Given the description of an element on the screen output the (x, y) to click on. 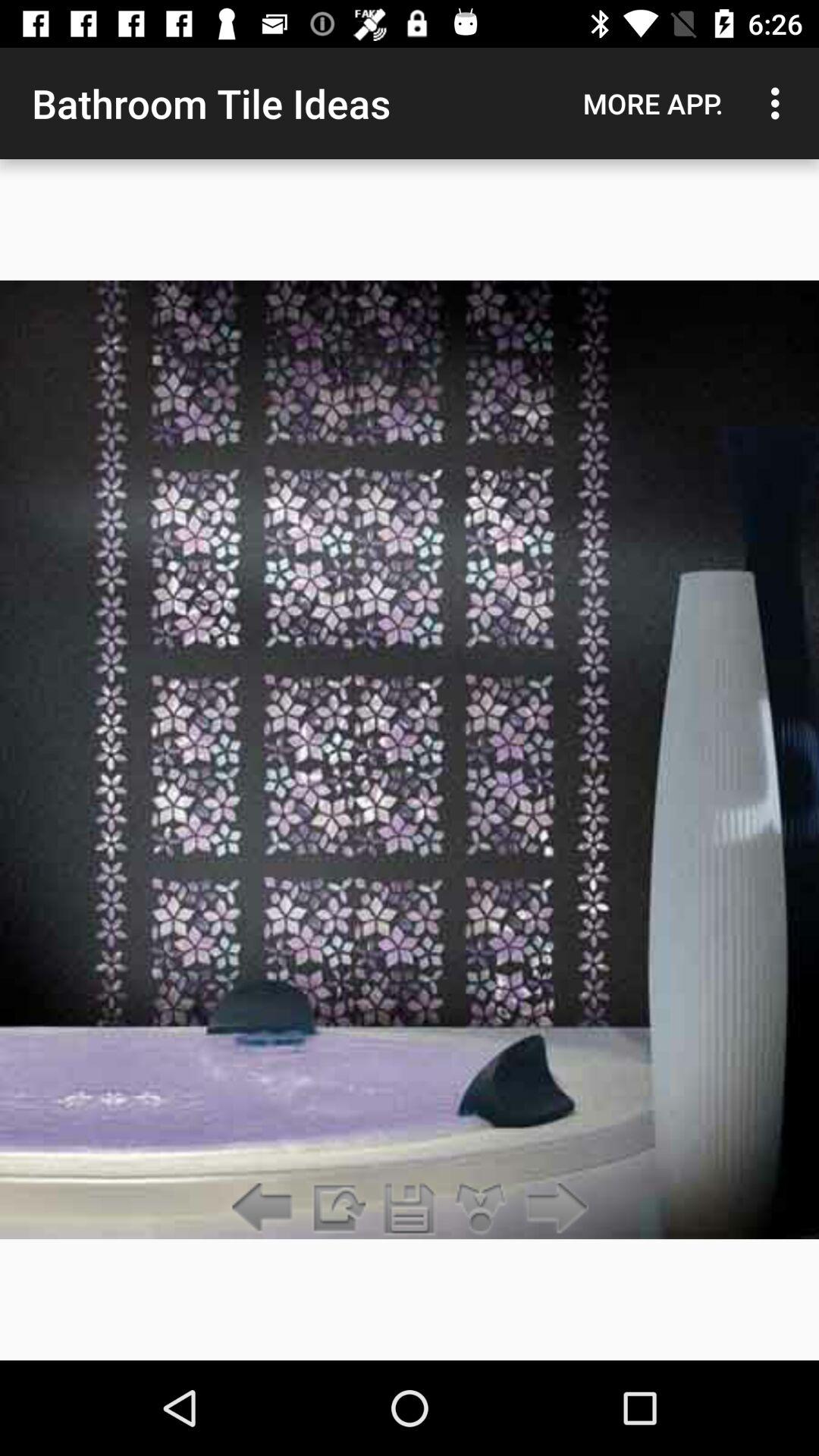
go back (266, 1209)
